Given the description of an element on the screen output the (x, y) to click on. 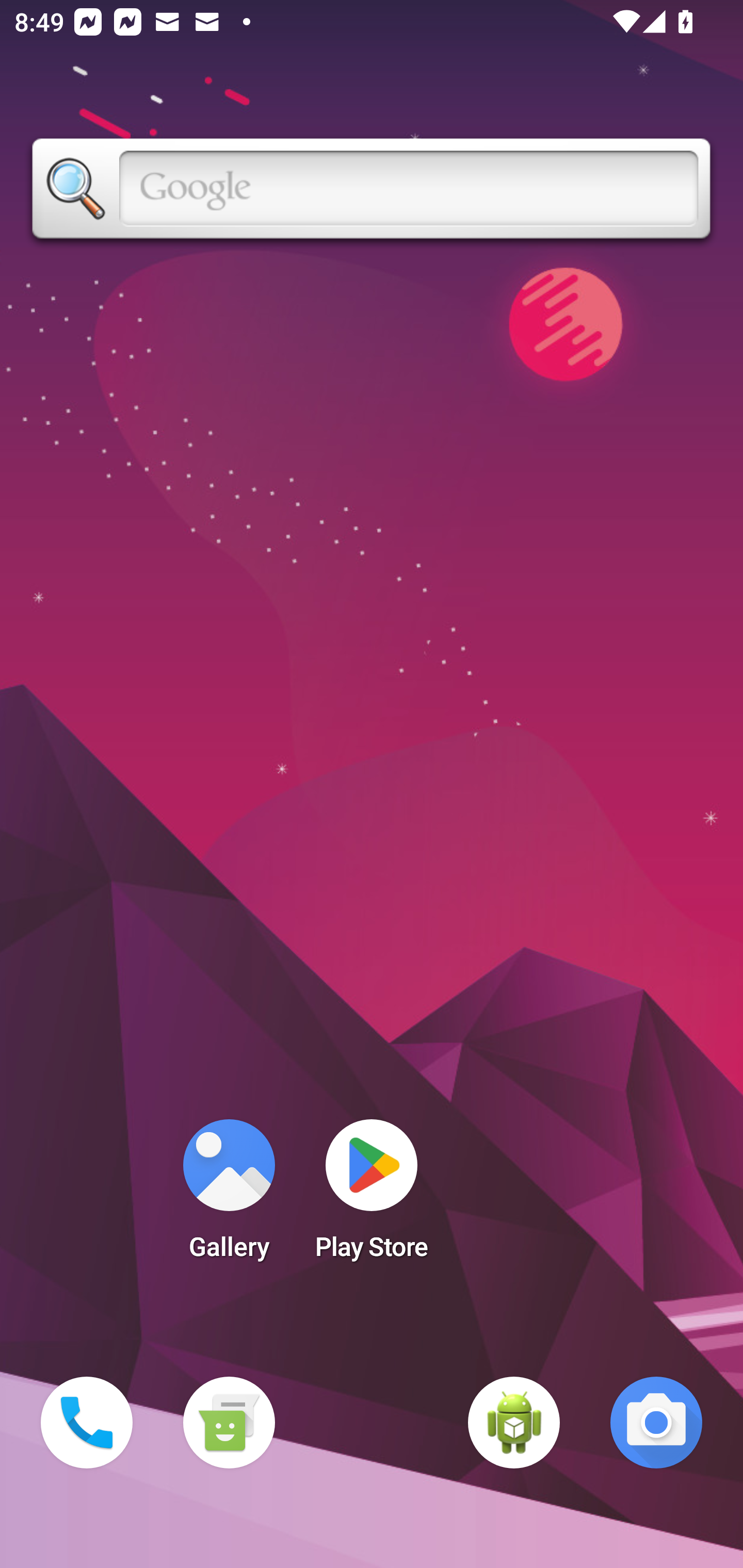
Gallery (228, 1195)
Play Store (371, 1195)
Phone (86, 1422)
Messaging (228, 1422)
WebView Browser Tester (513, 1422)
Camera (656, 1422)
